Given the description of an element on the screen output the (x, y) to click on. 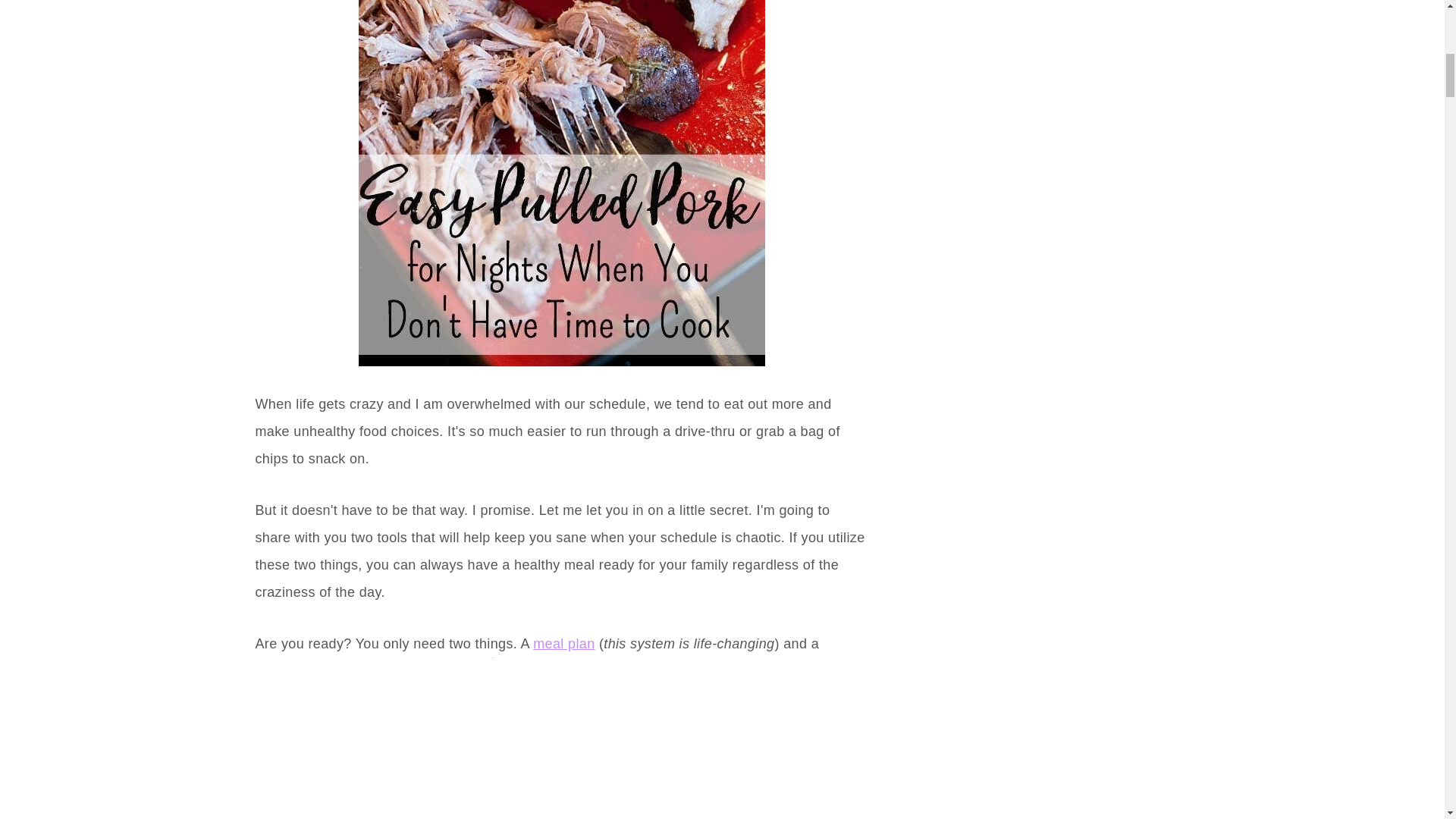
meal plan (563, 643)
